Given the description of an element on the screen output the (x, y) to click on. 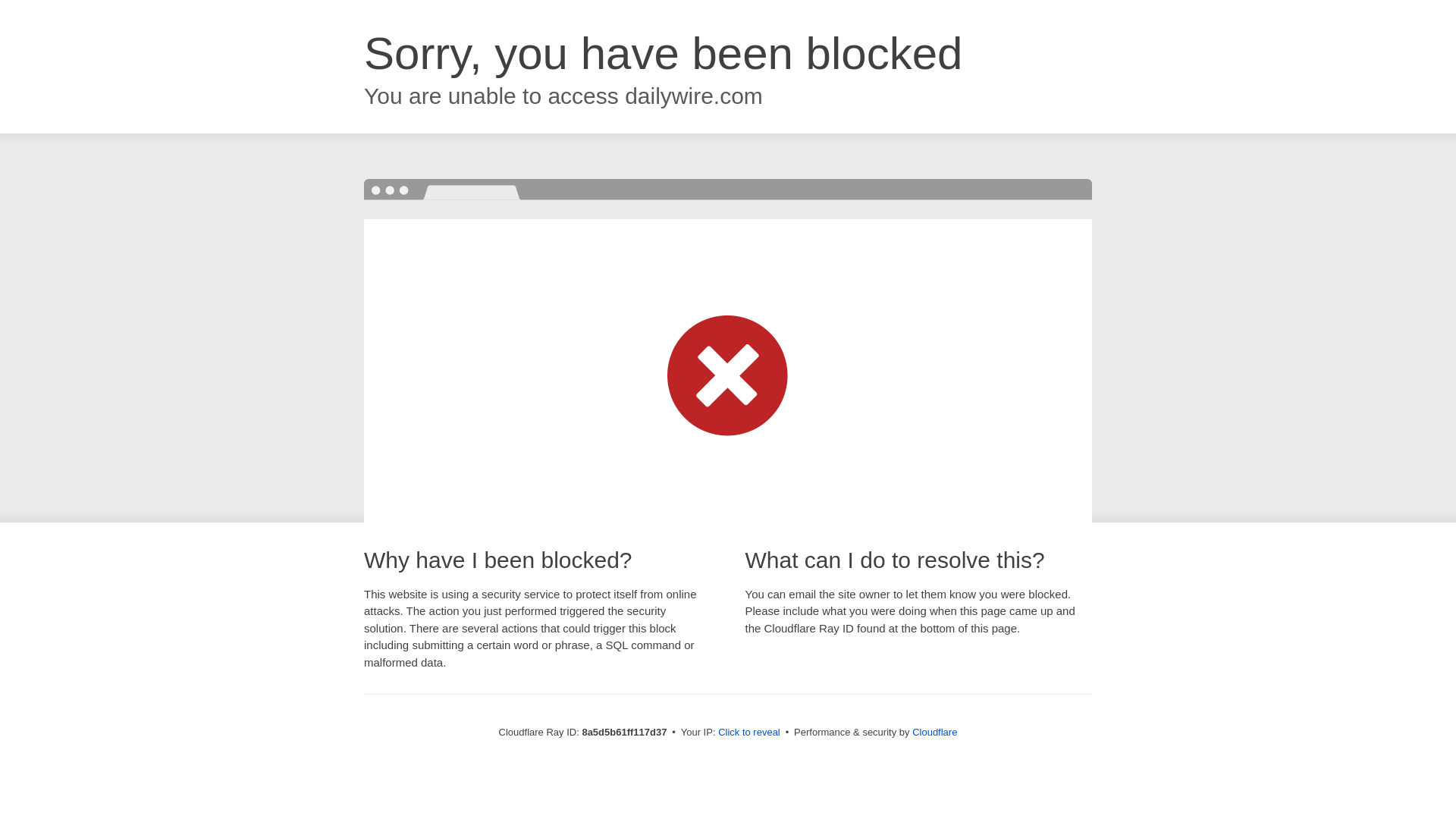
Cloudflare (934, 731)
Click to reveal (748, 732)
